Given the description of an element on the screen output the (x, y) to click on. 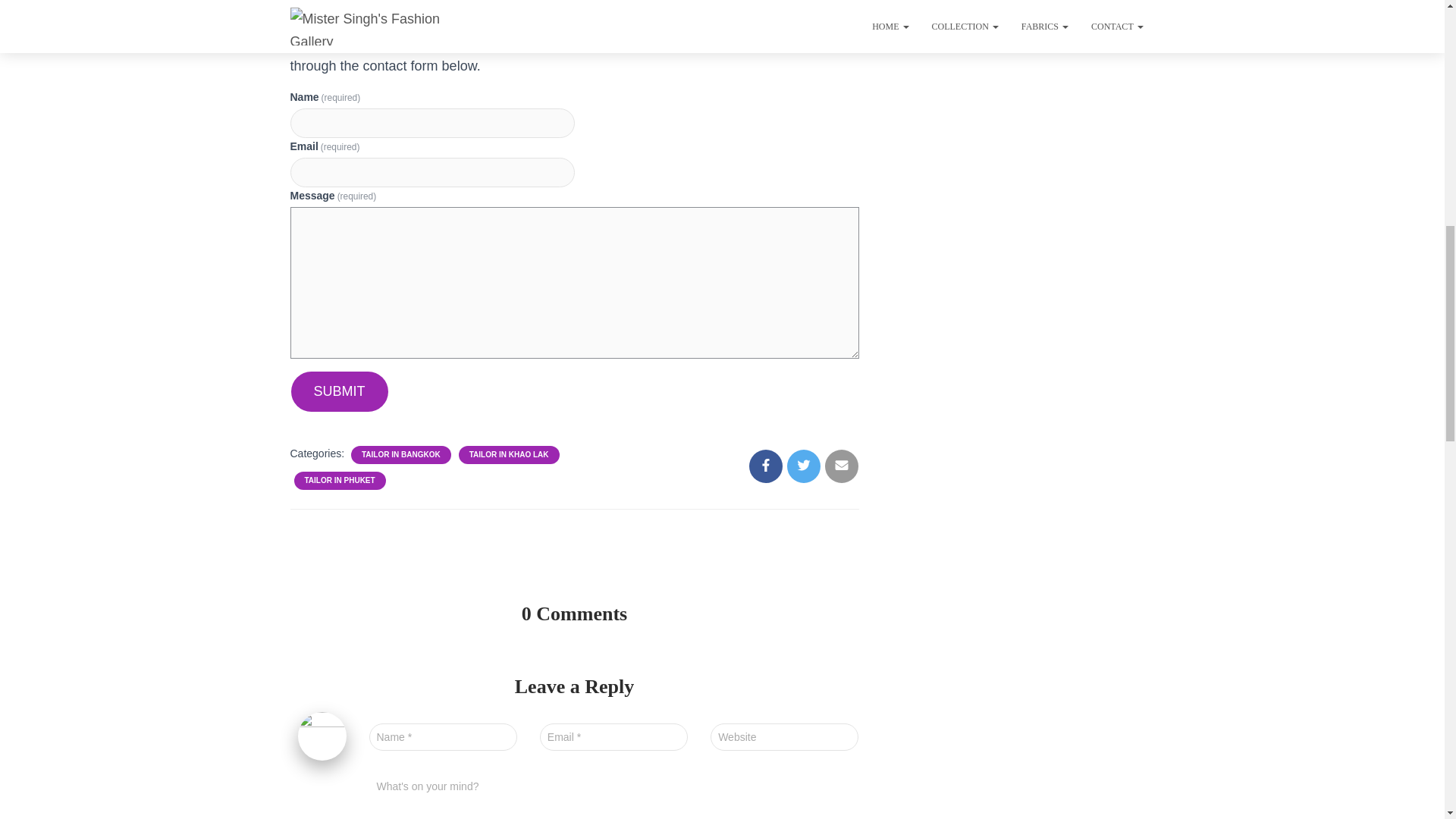
SUBMIT (339, 391)
TAILOR IN BANGKOK (400, 454)
TAILOR IN KHAO LAK (508, 454)
TAILOR IN PHUKET (339, 480)
